Given the description of an element on the screen output the (x, y) to click on. 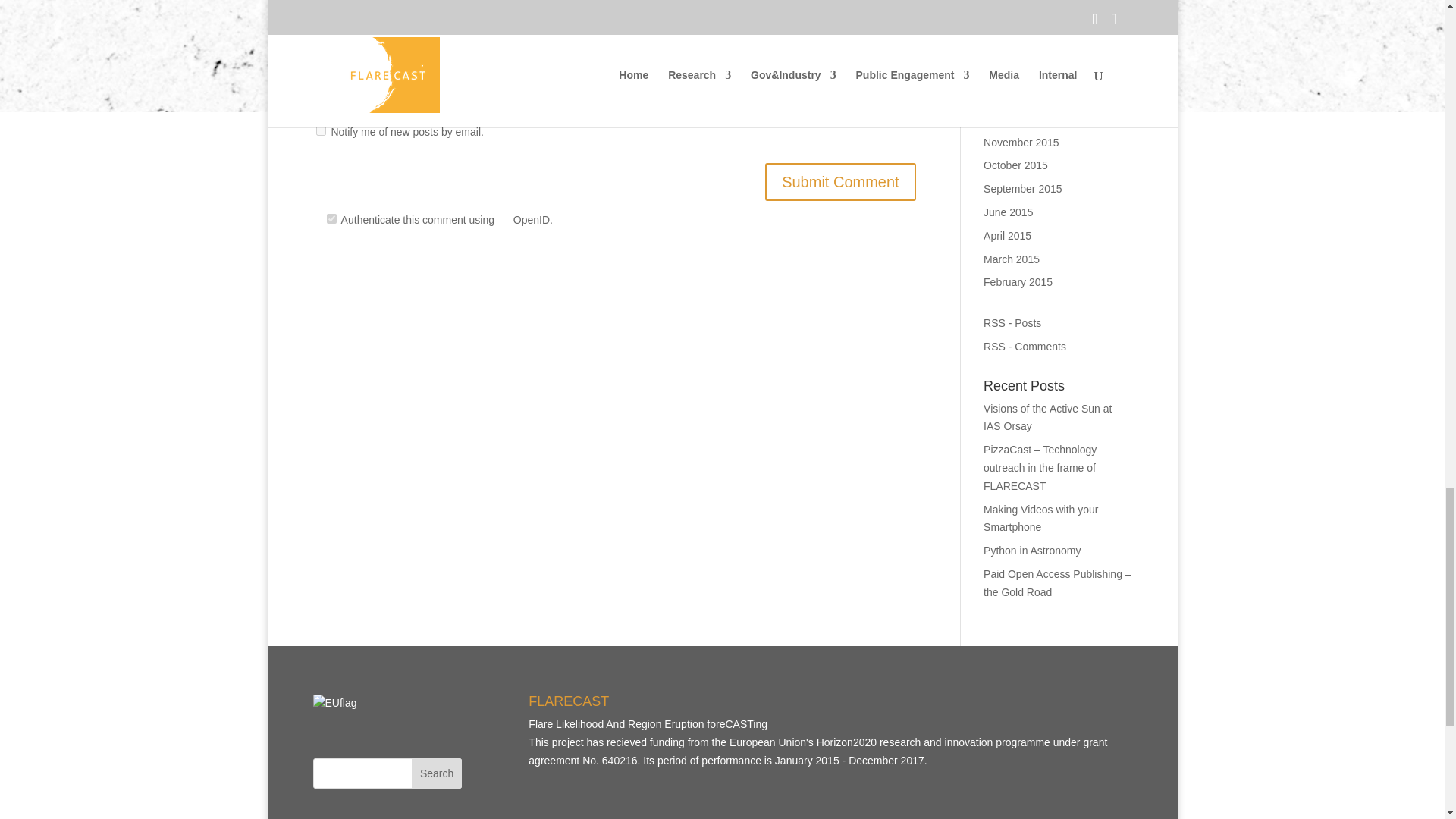
subscribe (319, 91)
subscribe (319, 130)
Subscribe to comments (1024, 346)
Submit Comment (840, 181)
on (331, 218)
Submit Comment (840, 181)
Subscribe to posts (1012, 322)
Search (436, 773)
